Given the description of an element on the screen output the (x, y) to click on. 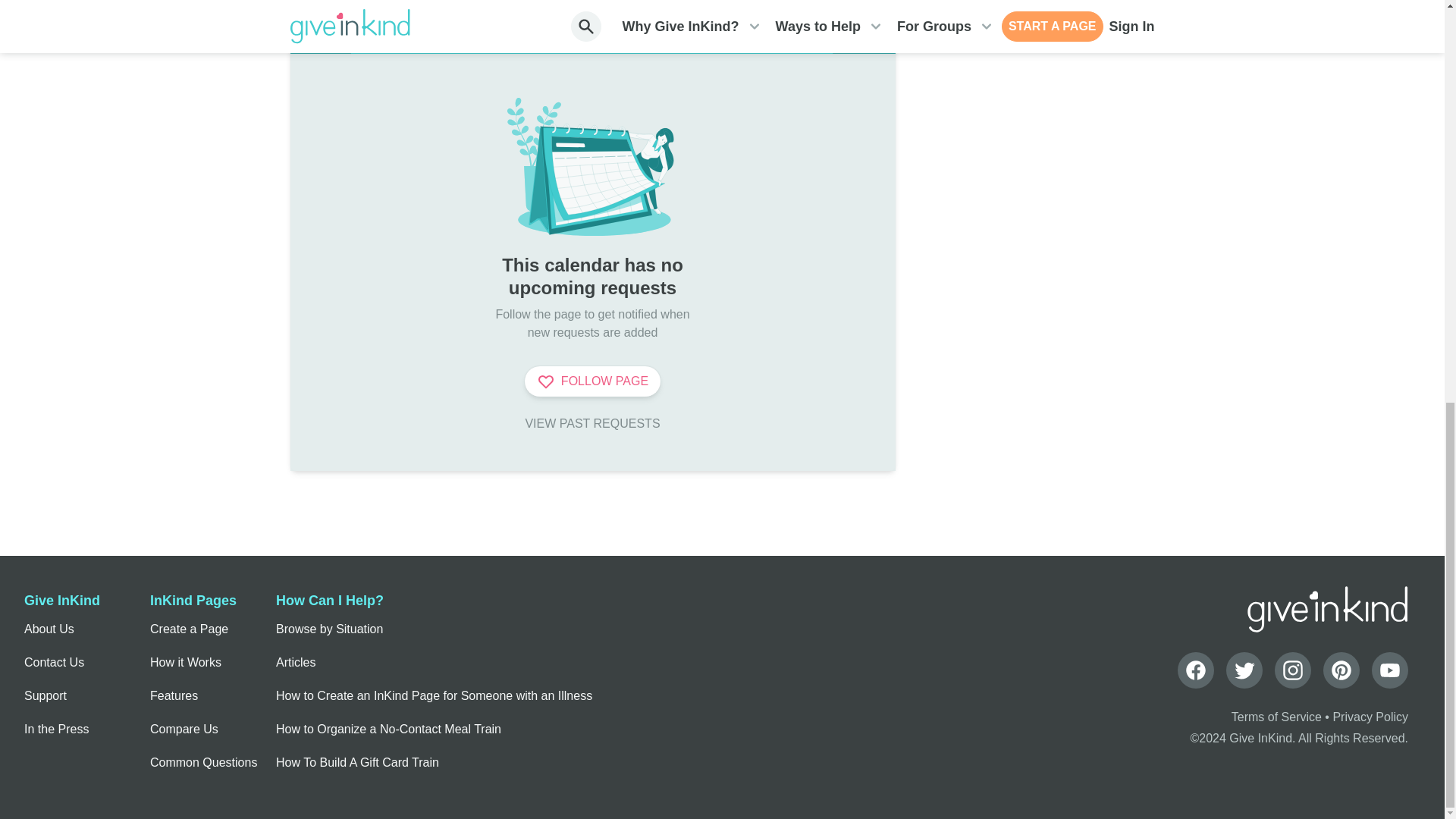
SEP (863, 38)
PRINT MONTH (831, 4)
JUL (319, 38)
VIEW PAST REQUESTS (591, 423)
